Given the description of an element on the screen output the (x, y) to click on. 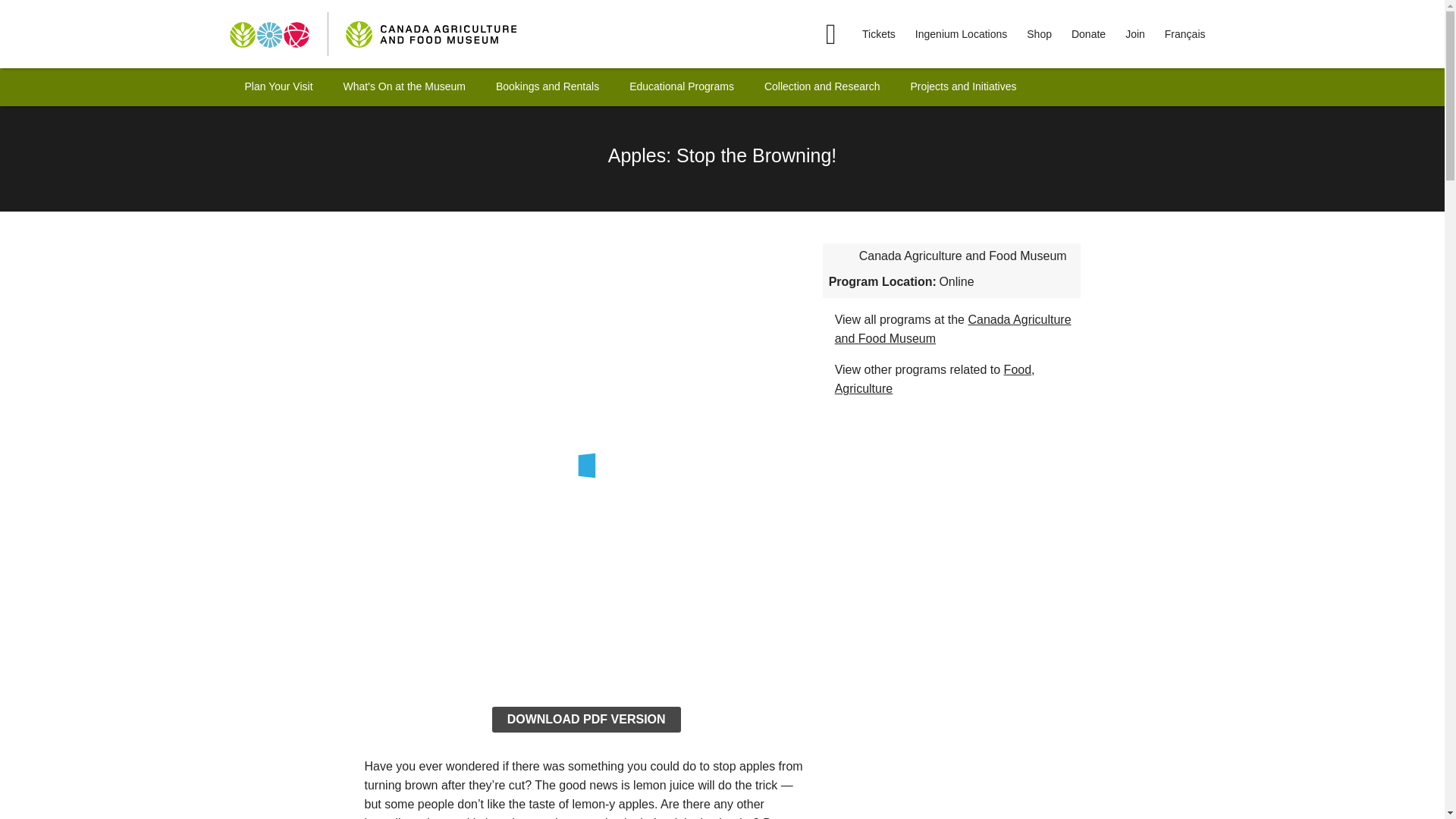
Ingenium Locations (961, 33)
Canada Agriculture and Food Museum (840, 255)
Search Toggle (830, 33)
Search (871, 33)
Tickets (878, 33)
What's On at the Museum (404, 87)
Donate (1088, 33)
Bookings and Rentals (547, 87)
Shop (1038, 33)
